Given the description of an element on the screen output the (x, y) to click on. 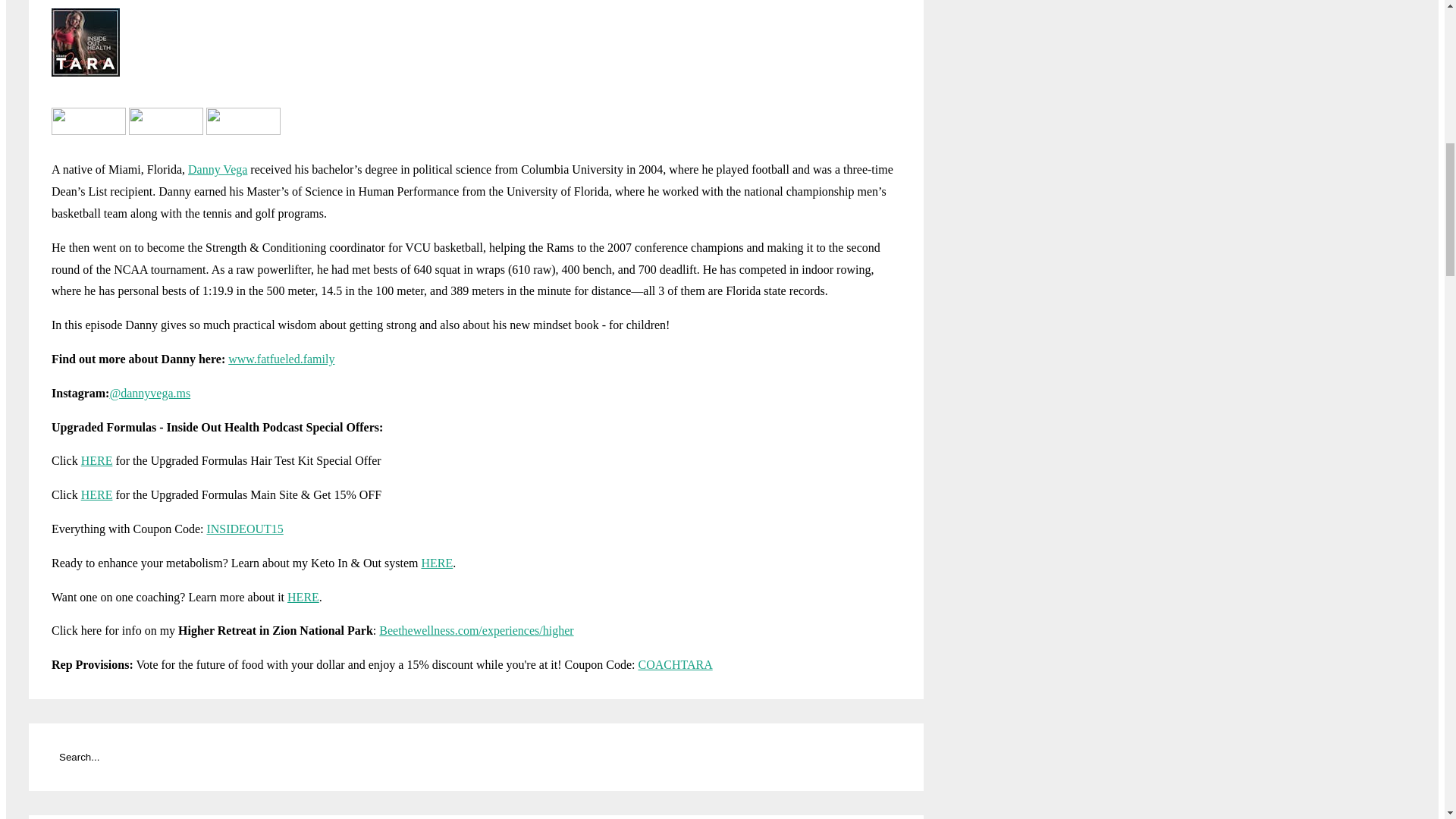
www.fatfueled.family (281, 358)
HERE (97, 494)
HERE (302, 596)
Danny Vega (217, 169)
COACHTARA (674, 664)
INSIDEOUT15 (244, 528)
HERE (436, 562)
HERE (97, 460)
